Given the description of an element on the screen output the (x, y) to click on. 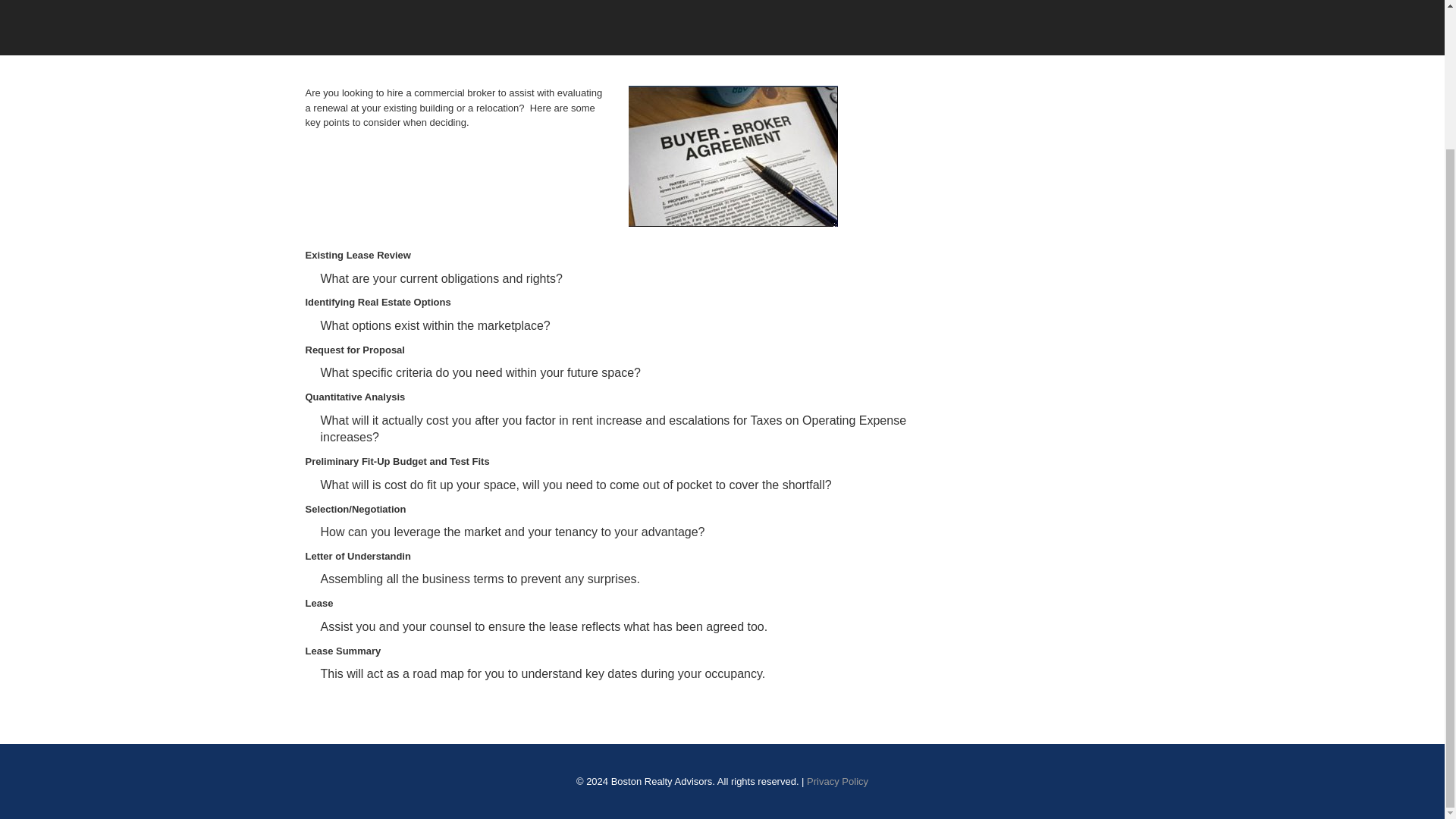
Privacy Policy (836, 781)
